Given the description of an element on the screen output the (x, y) to click on. 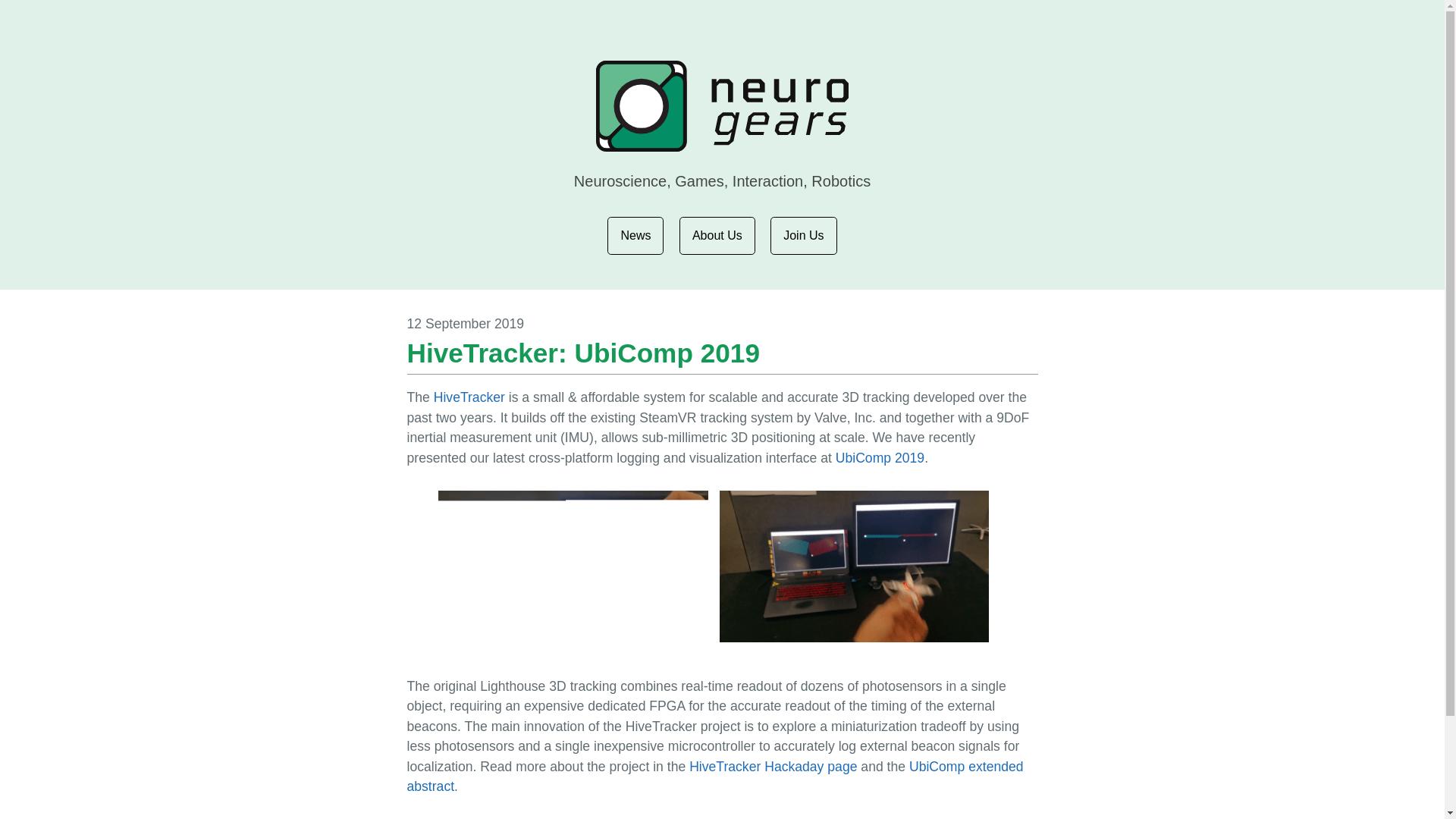
News (635, 235)
About Us (717, 235)
UbiComp extended abstract (714, 775)
Computer demo (854, 566)
Smartphone demo (572, 566)
HiveTracker (469, 396)
UbiComp 2019 (879, 458)
HiveTracker Hackaday page (772, 765)
Join Us (802, 235)
